Given the description of an element on the screen output the (x, y) to click on. 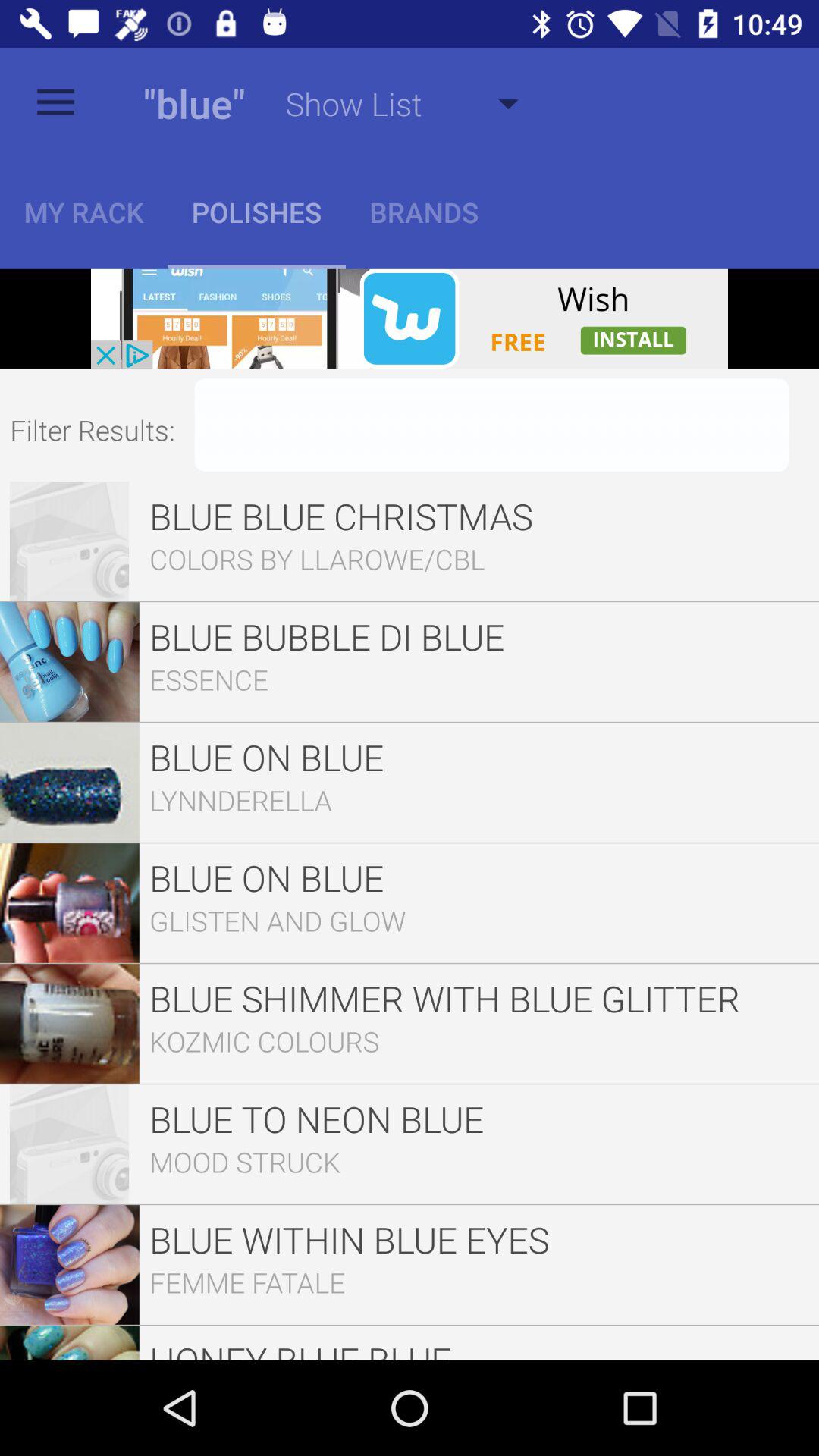
link to wish app (409, 318)
